Given the description of an element on the screen output the (x, y) to click on. 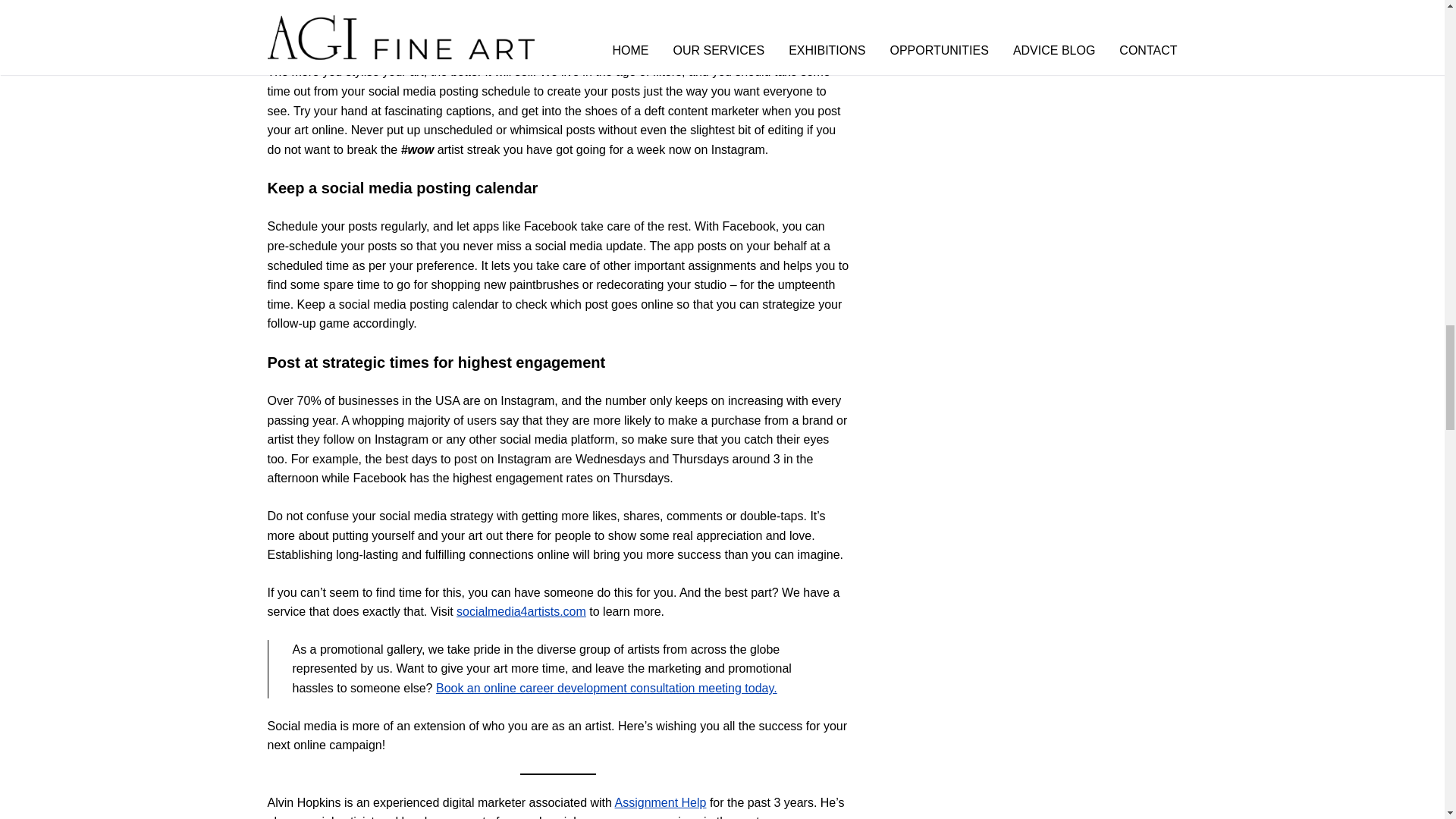
Assignment Help (660, 802)
socialmedia4artists.com (521, 611)
